Given the description of an element on the screen output the (x, y) to click on. 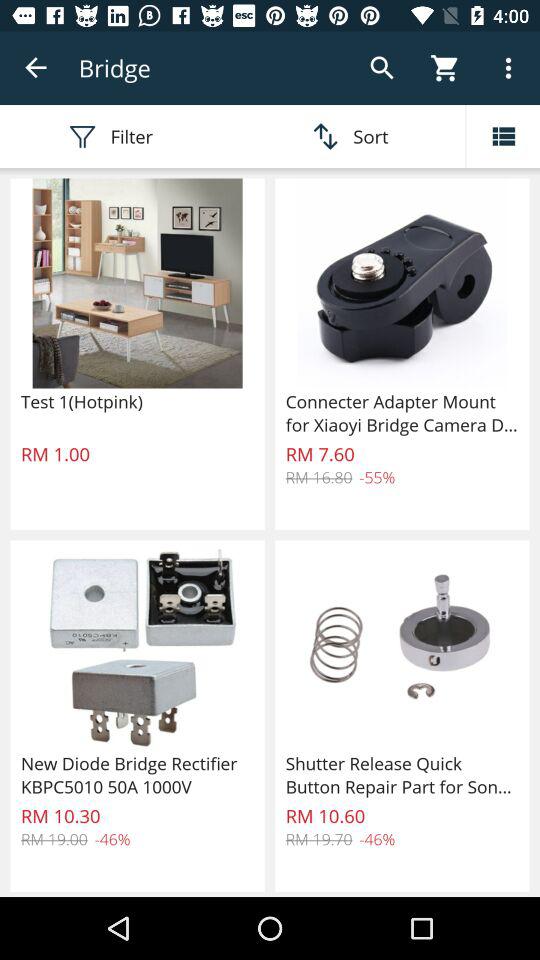
open item above filter (36, 68)
